Given the description of an element on the screen output the (x, y) to click on. 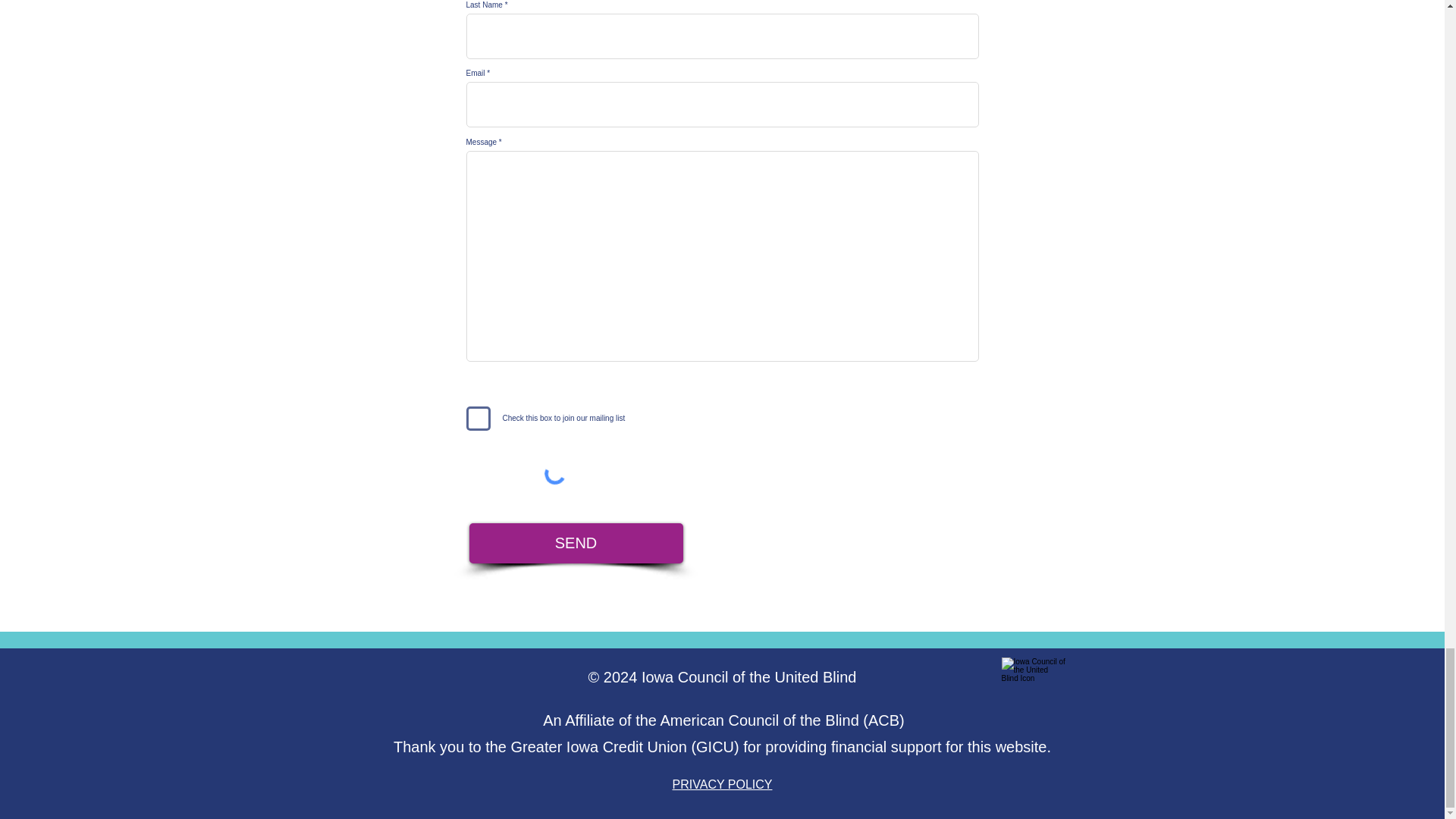
SEND (575, 543)
PRIVACY POLICY (722, 784)
